Given the description of an element on the screen output the (x, y) to click on. 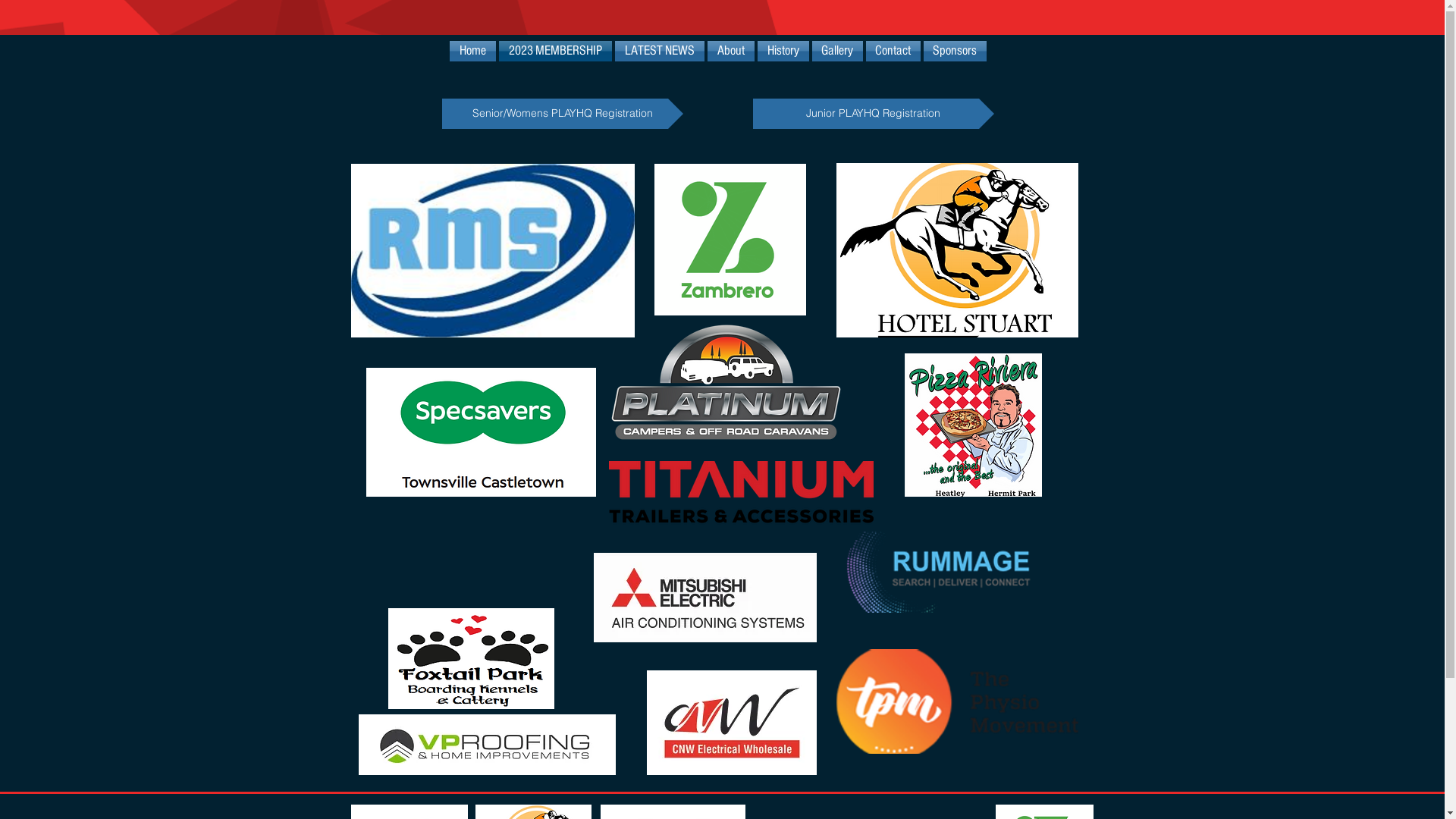
Senior/Womens PLAYHQ Registration Element type: text (561, 113)
Gallery Element type: text (836, 50)
Home Element type: text (472, 50)
History Element type: text (782, 50)
LATEST NEWS Element type: text (658, 50)
Contact Element type: text (893, 50)
Junior PLAYHQ Registration Element type: text (872, 113)
About Element type: text (730, 50)
Sponsors Element type: text (954, 50)
2023 MEMBERSHIP Element type: text (555, 50)
